Given the description of an element on the screen output the (x, y) to click on. 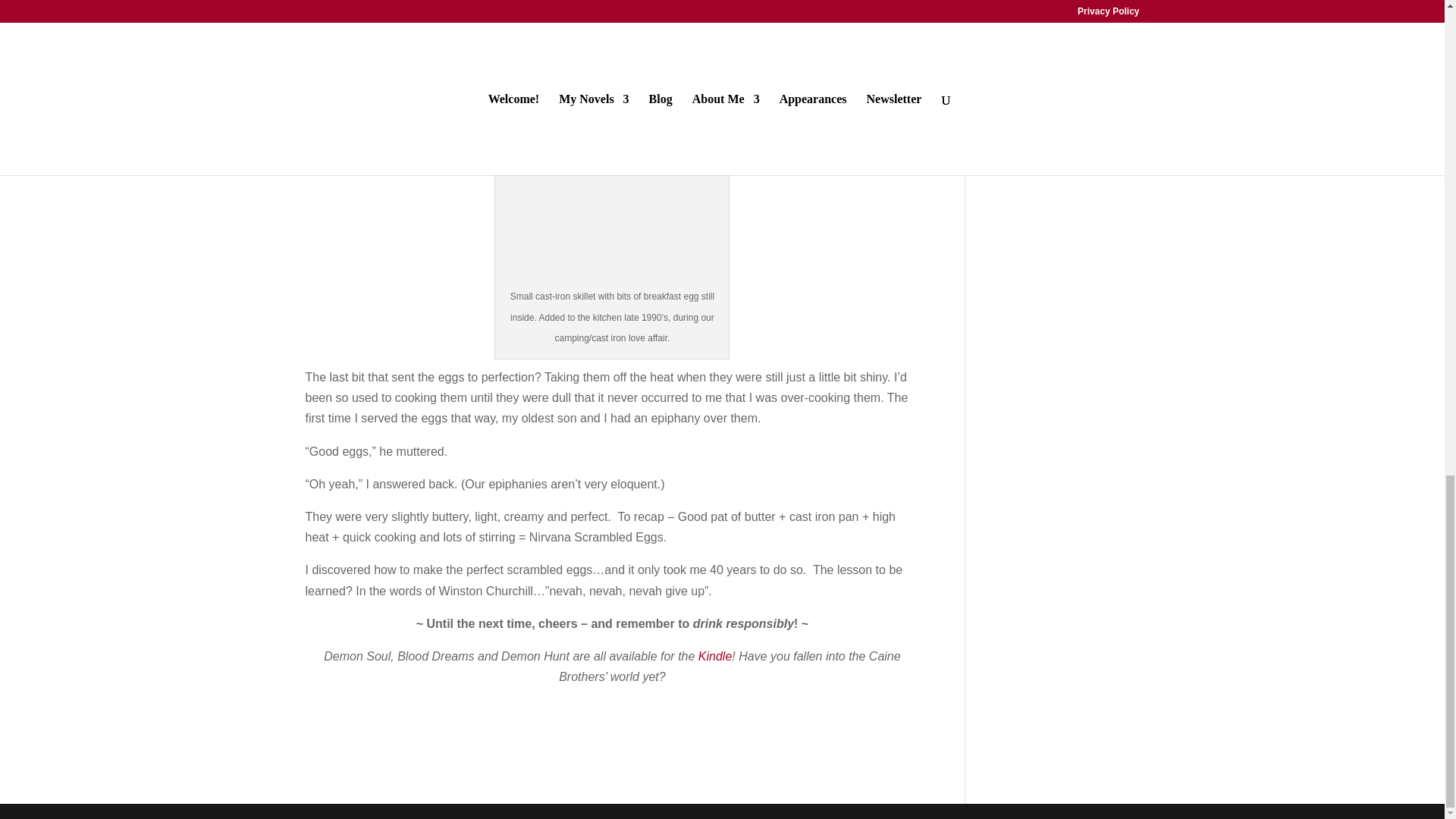
cast iron pan (611, 203)
Kindle (715, 656)
